Given the description of an element on the screen output the (x, y) to click on. 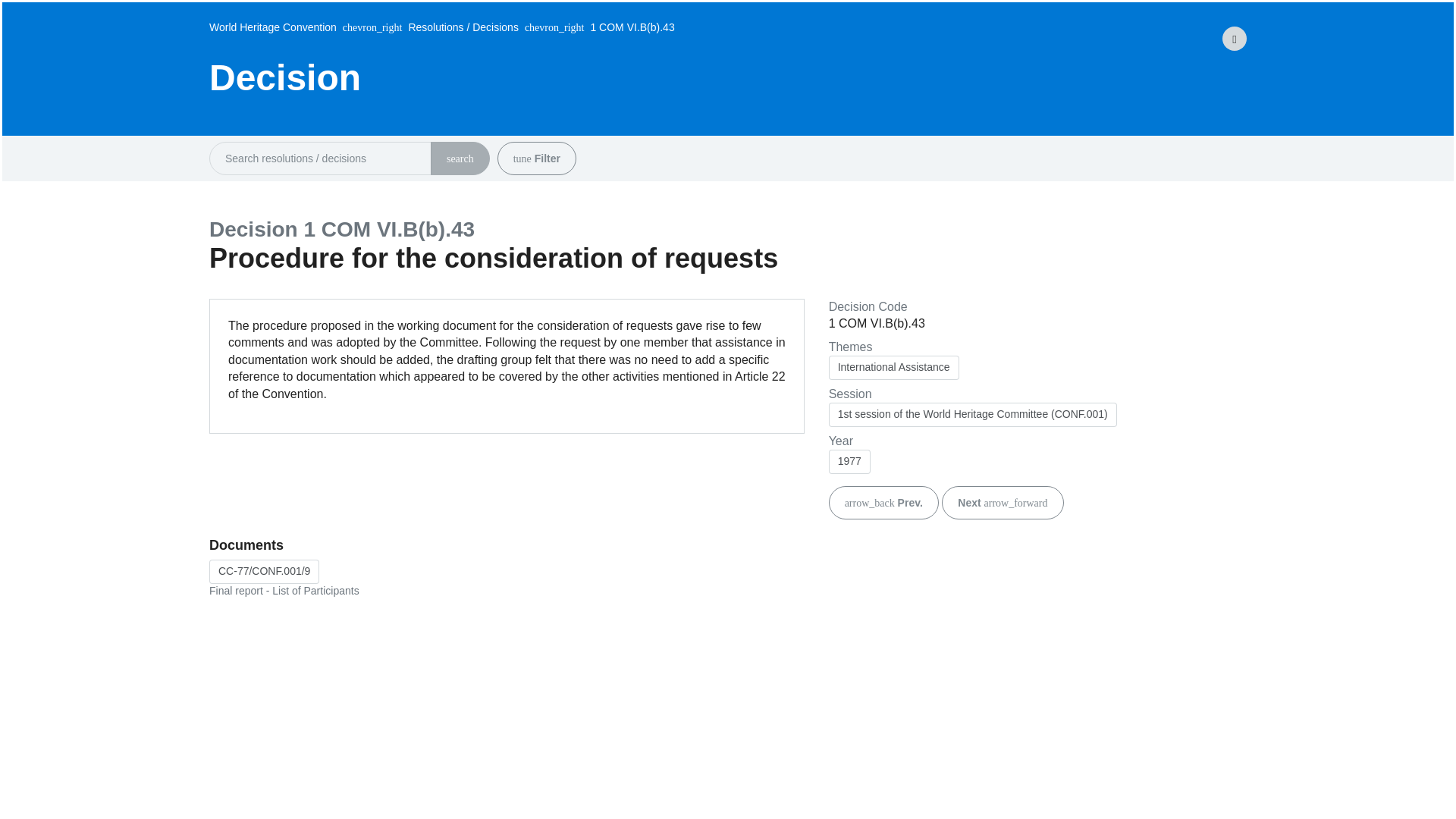
World Heritage Convention (272, 29)
search (459, 158)
Filter your search (522, 158)
Share (1233, 37)
Final report - List of Participants (263, 571)
1977 (849, 461)
